Given the description of an element on the screen output the (x, y) to click on. 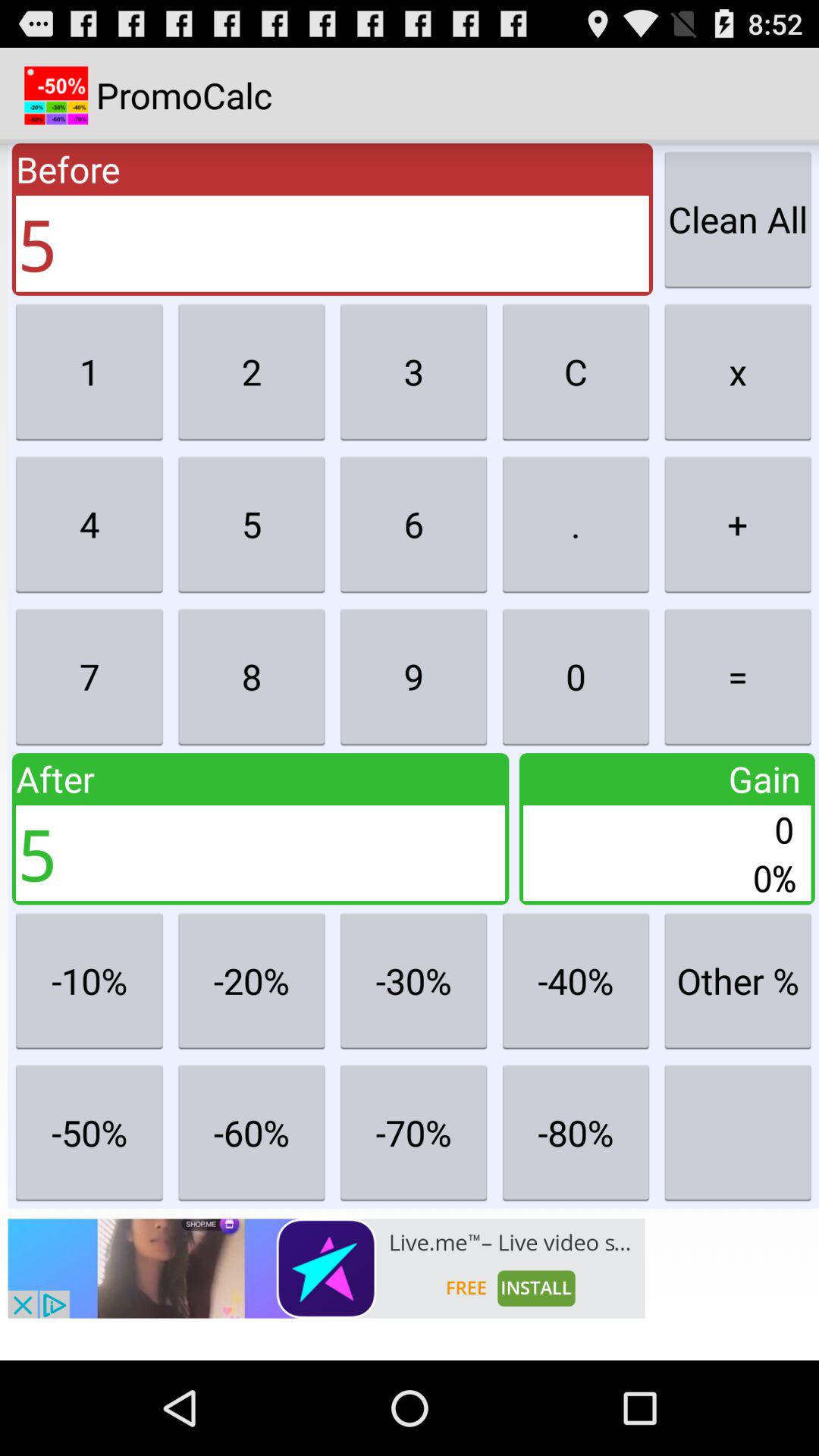
empty box (737, 1132)
